Given the description of an element on the screen output the (x, y) to click on. 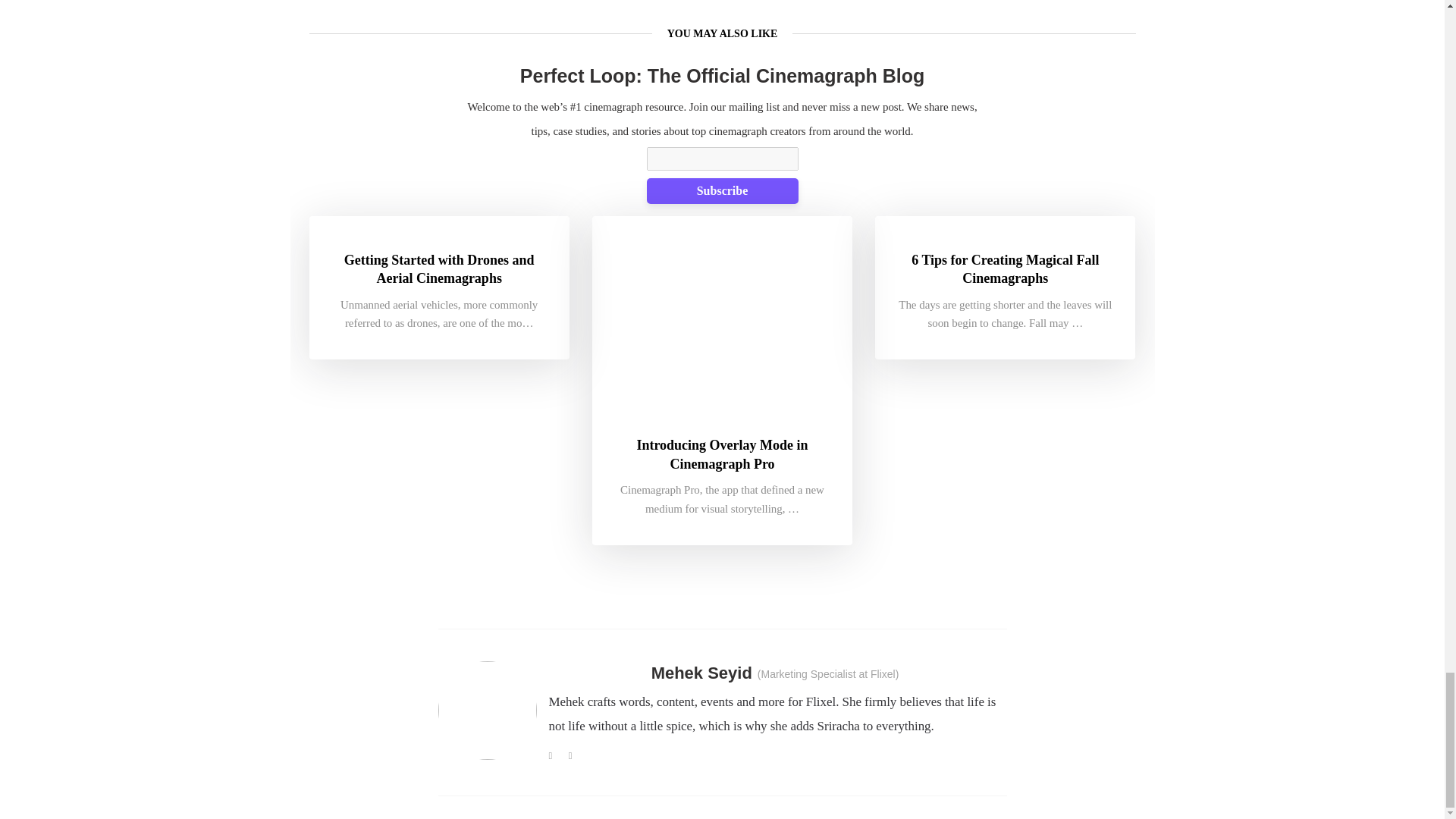
Getting Started with Drones and Aerial Cinemagraphs (439, 269)
Subscribe (721, 190)
Subscribe (721, 190)
